Given the description of an element on the screen output the (x, y) to click on. 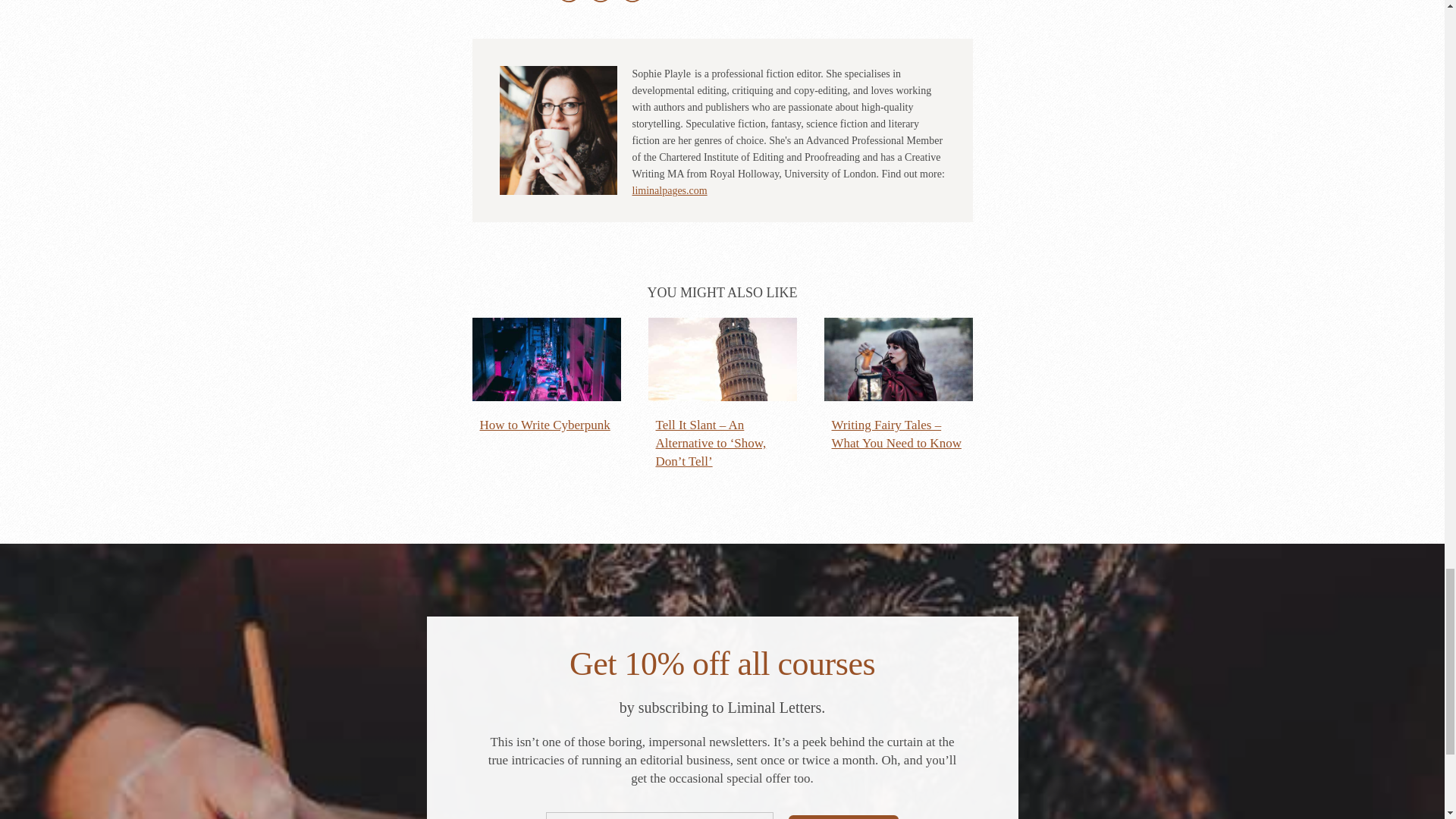
Twitter (568, 1)
liminalpages.com (669, 190)
LinkedIn (632, 1)
SIGN UP (843, 816)
How to Write Cyberpunk (545, 375)
Facebook (600, 1)
